Given the description of an element on the screen output the (x, y) to click on. 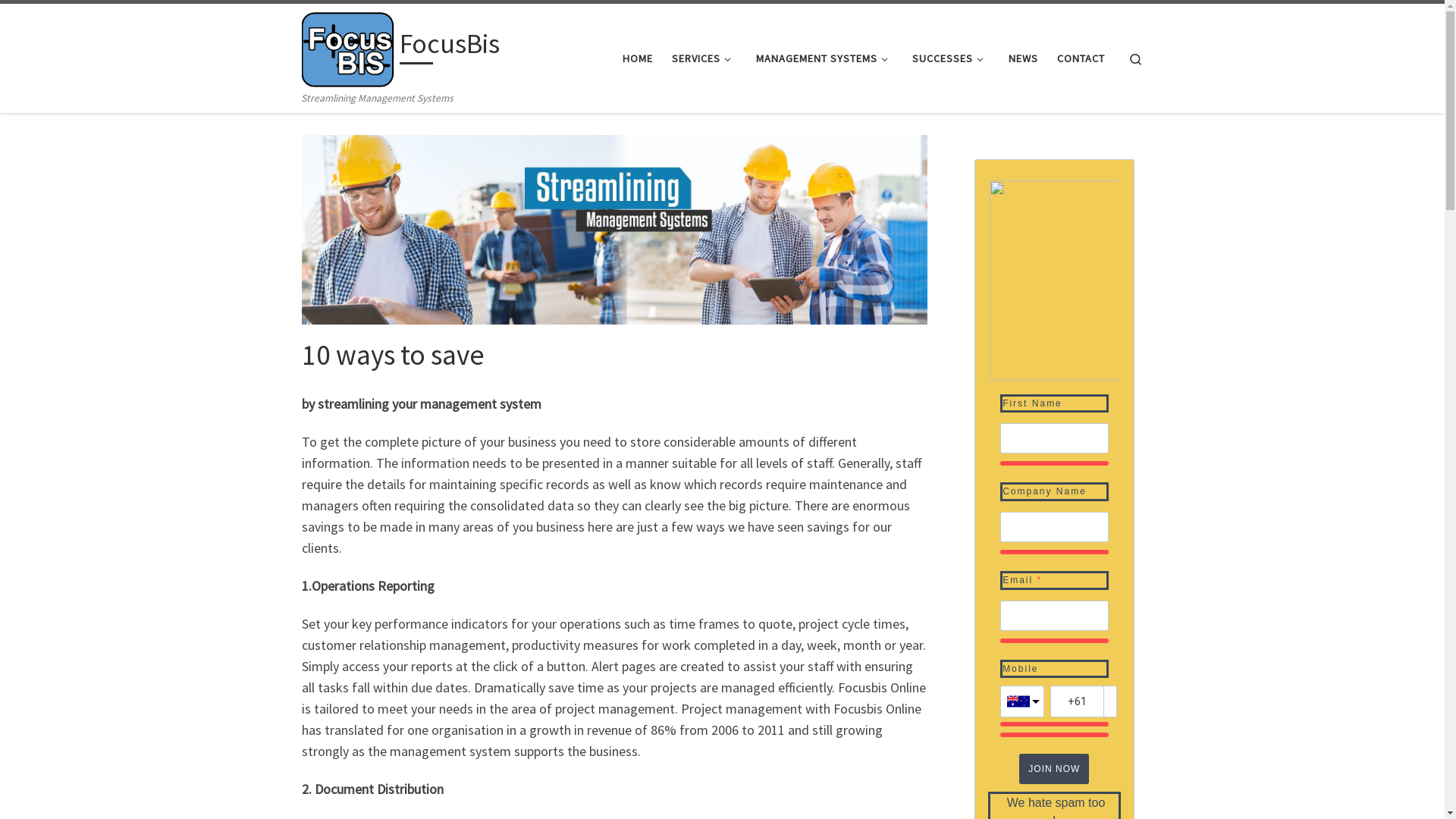
FocusBis Element type: text (449, 47)
SUCCESSES Element type: text (950, 58)
HOME Element type: text (638, 58)
JOIN NOW Element type: text (1053, 768)
SERVICES Element type: text (704, 58)
Search Element type: text (1135, 57)
CONTACT Element type: text (1080, 58)
Skip to content Element type: text (57, 21)
MANAGEMENT SYSTEMS Element type: text (823, 58)
NEWS Element type: text (1022, 58)
